Given the description of an element on the screen output the (x, y) to click on. 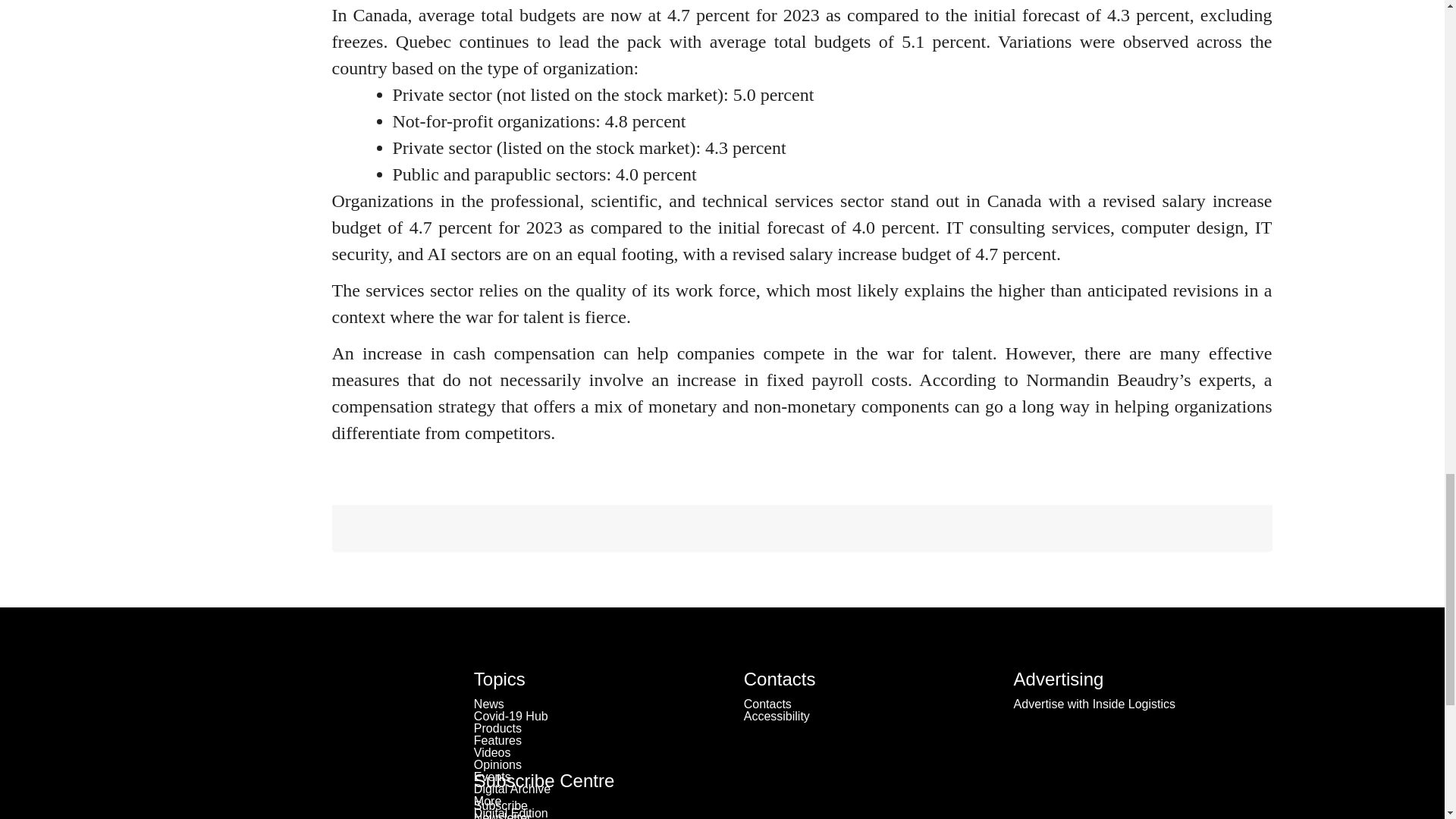
Subscribe (500, 805)
Newsletter (502, 815)
